Given the description of an element on the screen output the (x, y) to click on. 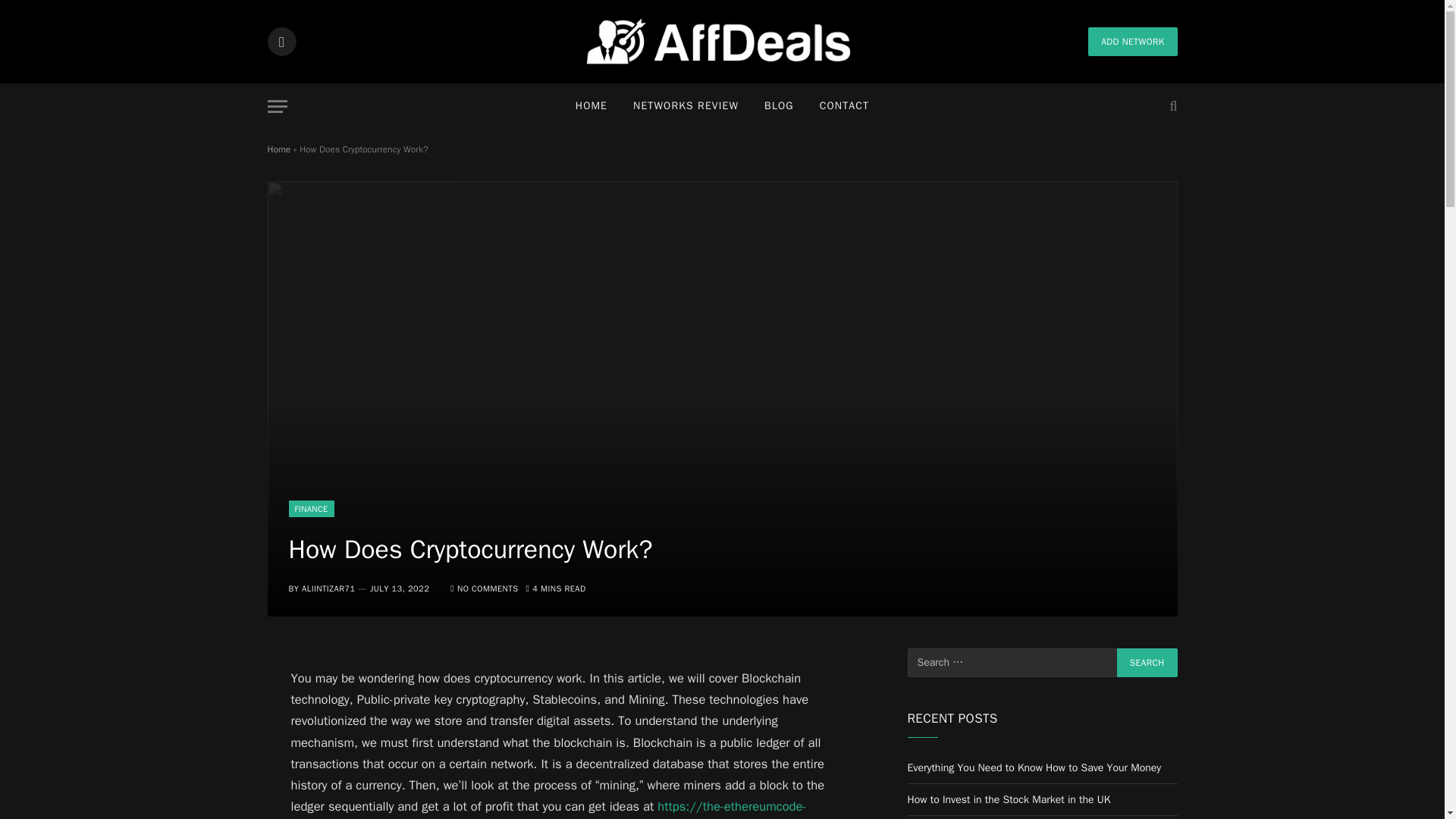
NO COMMENTS (483, 588)
ADD NETWORK (1131, 41)
Posts by aliintizar71 (328, 588)
Search (1146, 662)
Home (277, 149)
NETWORKS REVIEW (685, 105)
CONTACT (844, 105)
HOME (591, 105)
BLOG (778, 105)
ALIINTIZAR71 (328, 588)
FINANCE (310, 508)
Facebook (280, 41)
Search (1146, 662)
